Given the description of an element on the screen output the (x, y) to click on. 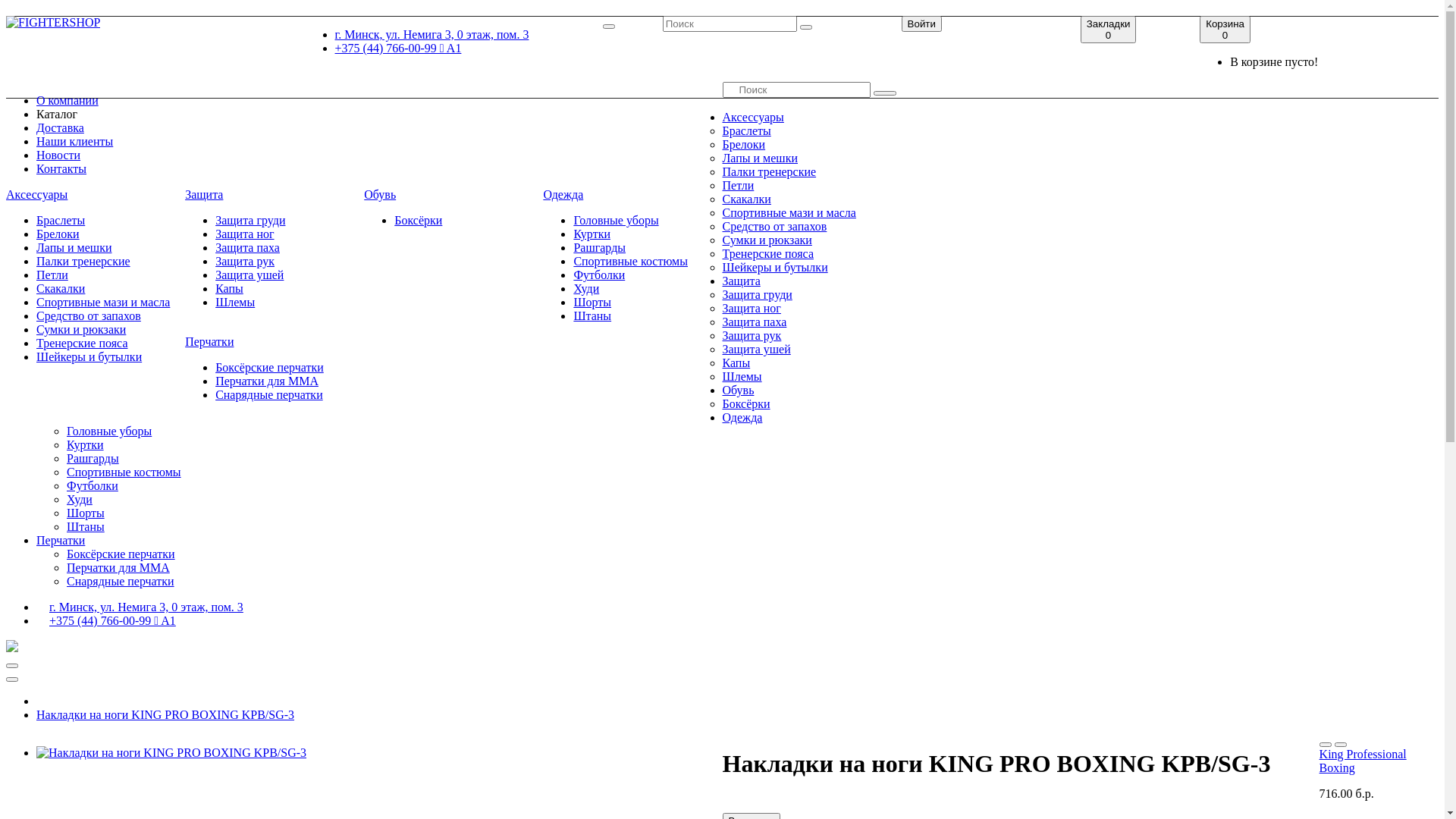
King Professional Boxing Element type: text (1362, 760)
FIGHTERSHOP Element type: hover (53, 22)
